Given the description of an element on the screen output the (x, y) to click on. 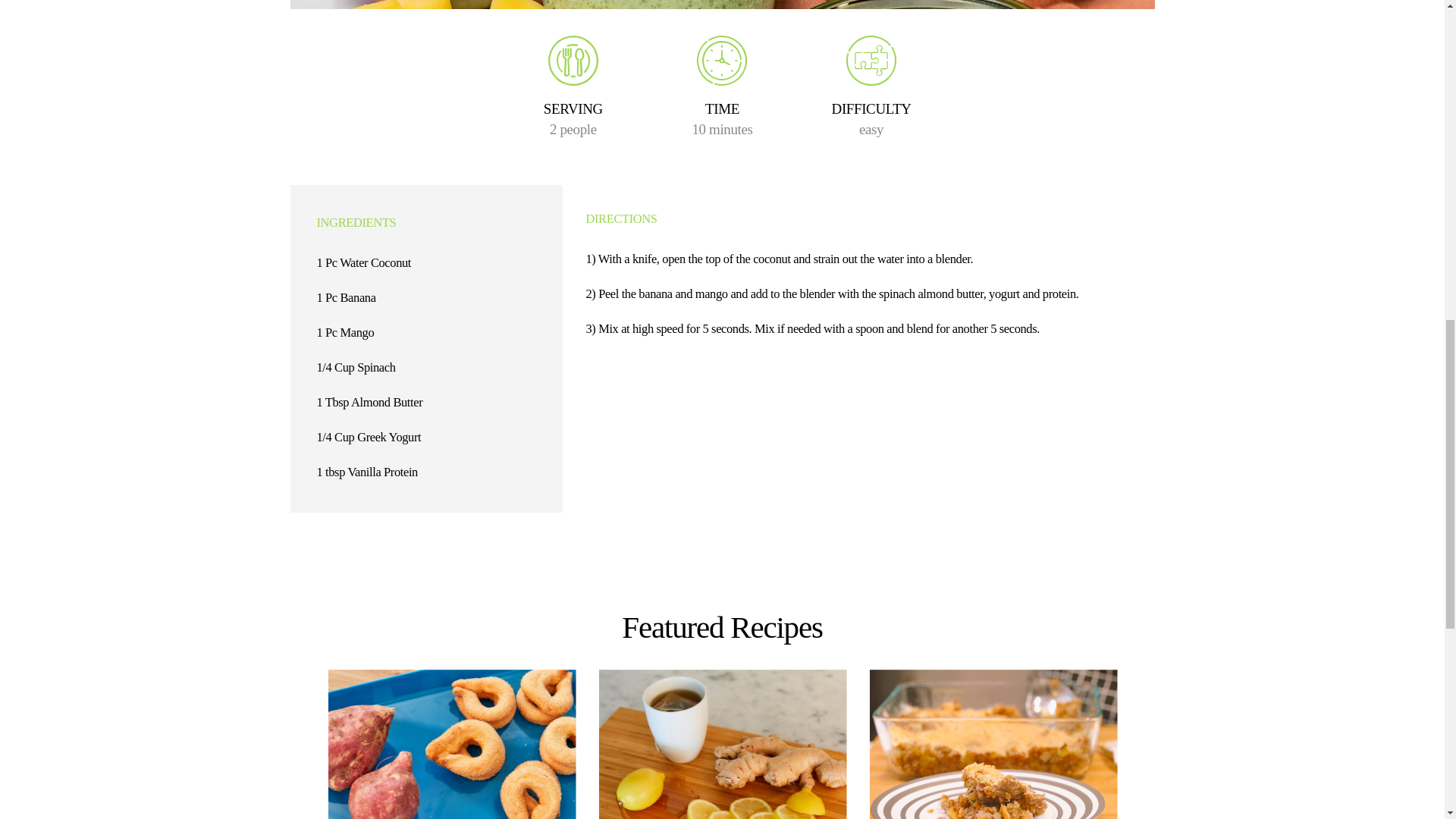
Chayote Stuffing with Sausage (992, 744)
Lemon Ginger Detox Tea (722, 744)
